Given the description of an element on the screen output the (x, y) to click on. 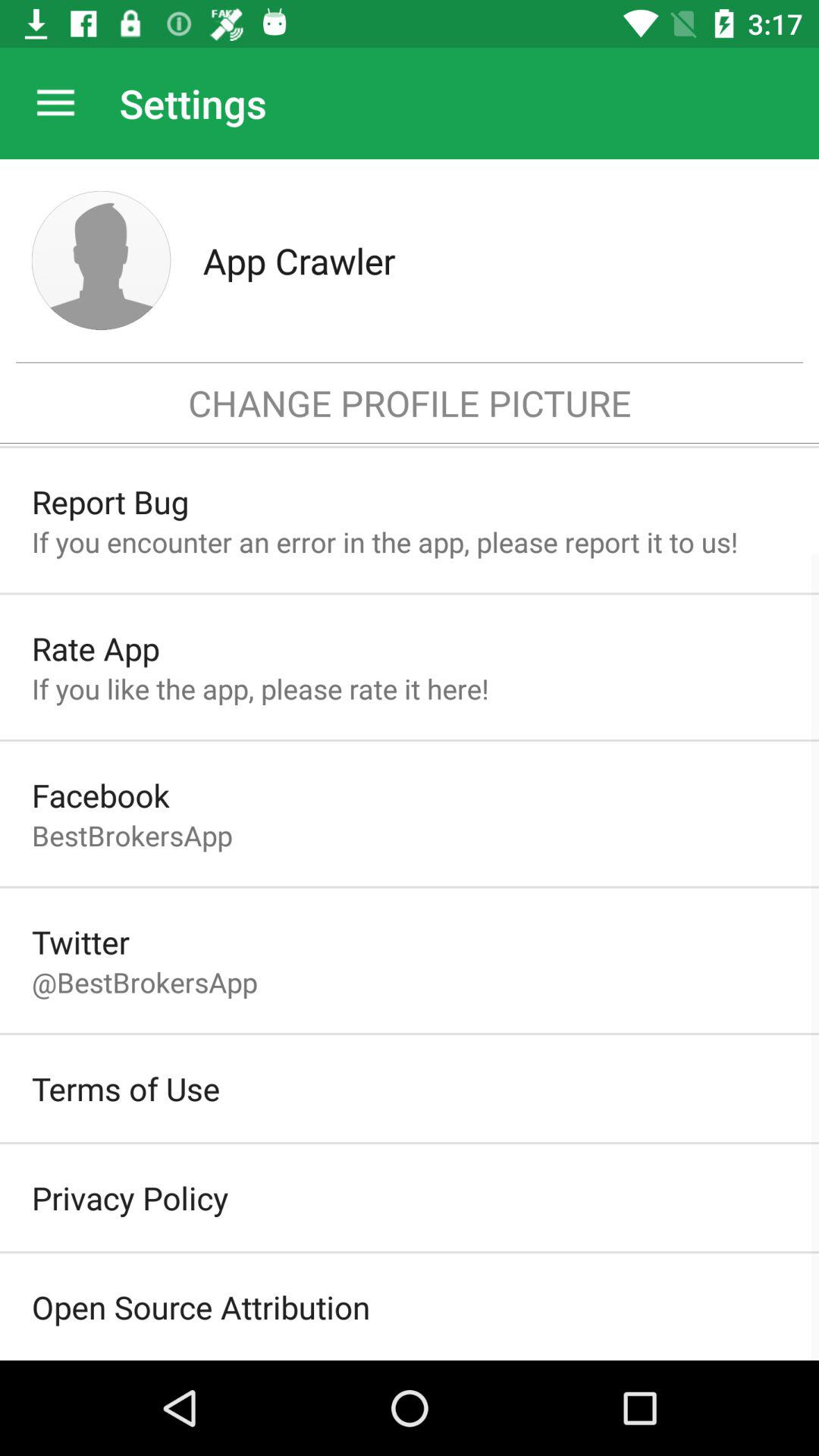
profile picture (101, 260)
